Given the description of an element on the screen output the (x, y) to click on. 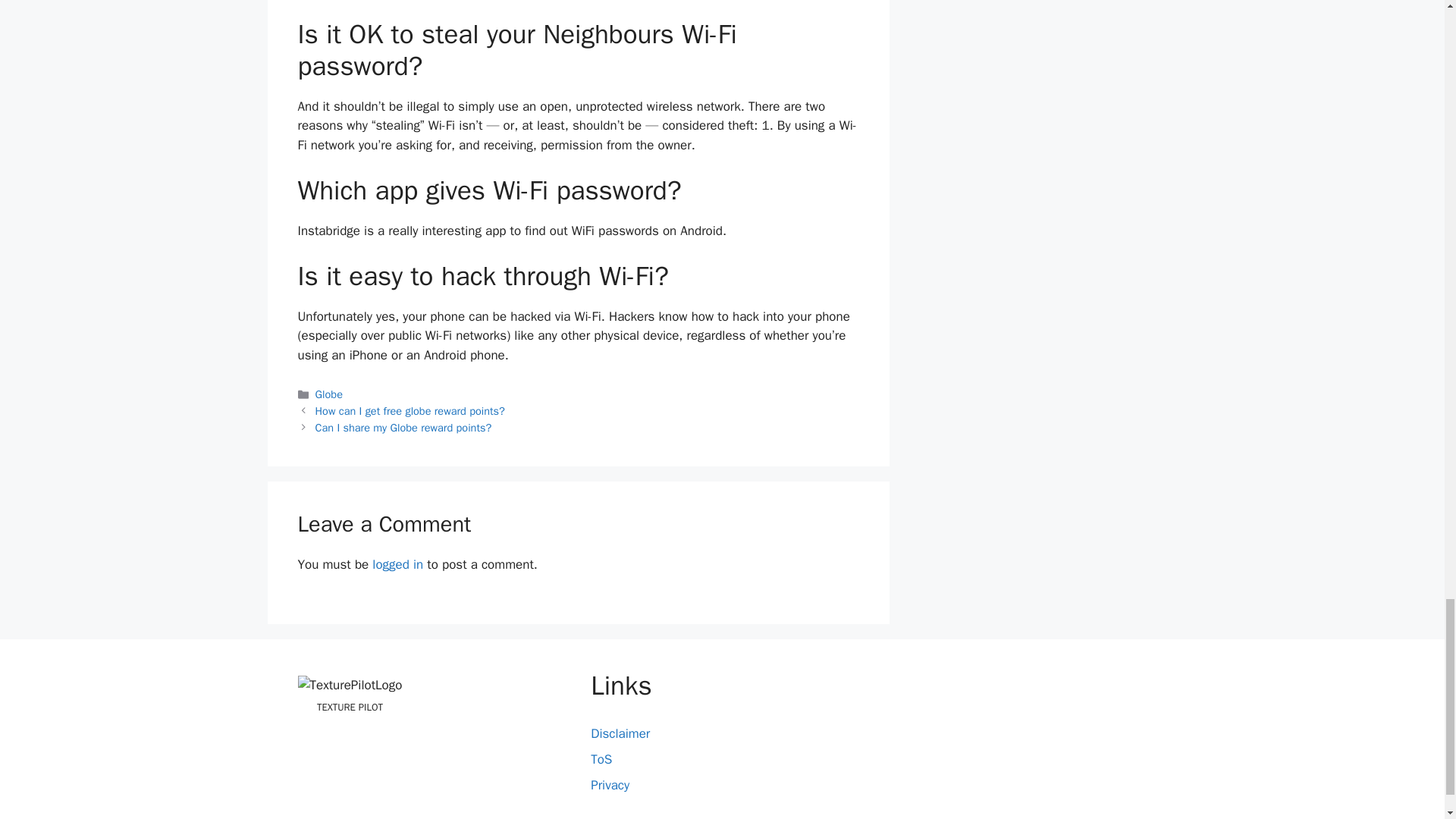
ToS (601, 759)
Can I share my Globe reward points? (403, 427)
Globe (328, 394)
Disclaimer (620, 733)
How can I get free globe reward points? (410, 410)
Privacy (609, 785)
logged in (397, 564)
